Given the description of an element on the screen output the (x, y) to click on. 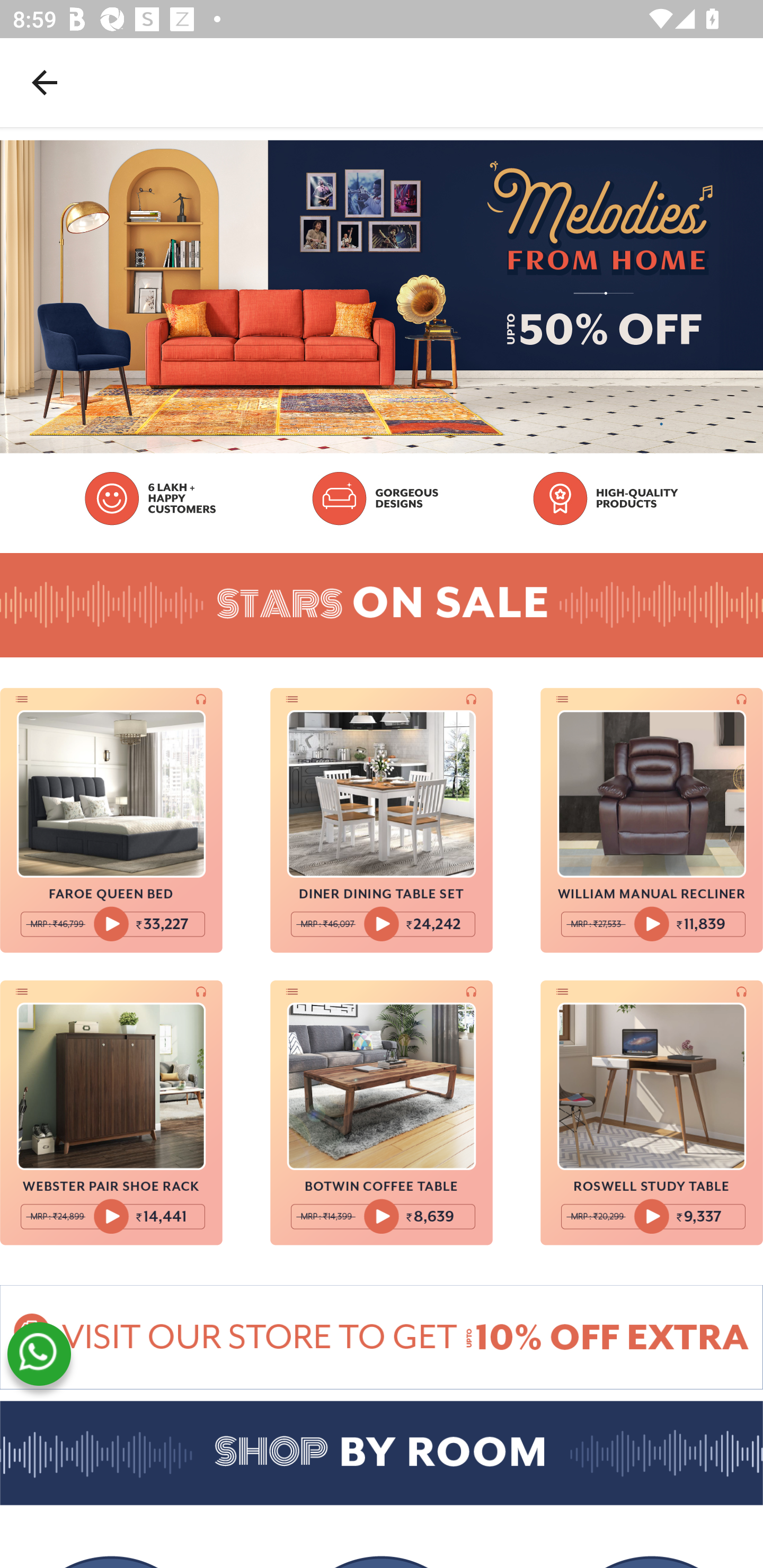
Navigate up (44, 82)
blockbuster deals-1 (111, 819)
Blockbuster deal-2 (381, 819)
blockbuster deals-3 (651, 819)
blockbuster deals-4 (111, 1112)
Melodies-From_home (381, 1337)
whatsapp (38, 1353)
